Given the description of an element on the screen output the (x, y) to click on. 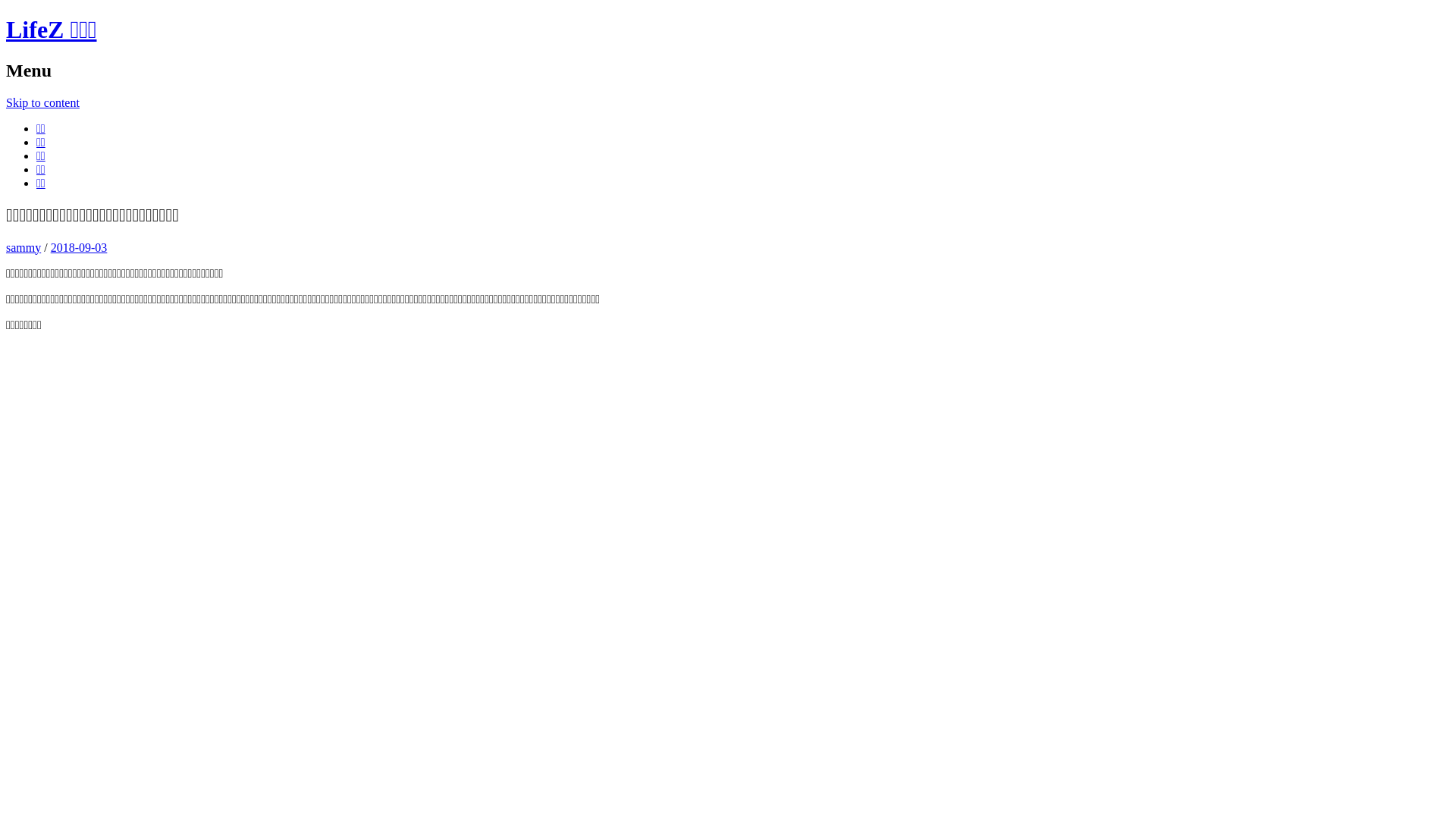
2018-09-03 Element type: text (78, 247)
Skip to content Element type: text (42, 102)
sammy Element type: text (23, 247)
